Given the description of an element on the screen output the (x, y) to click on. 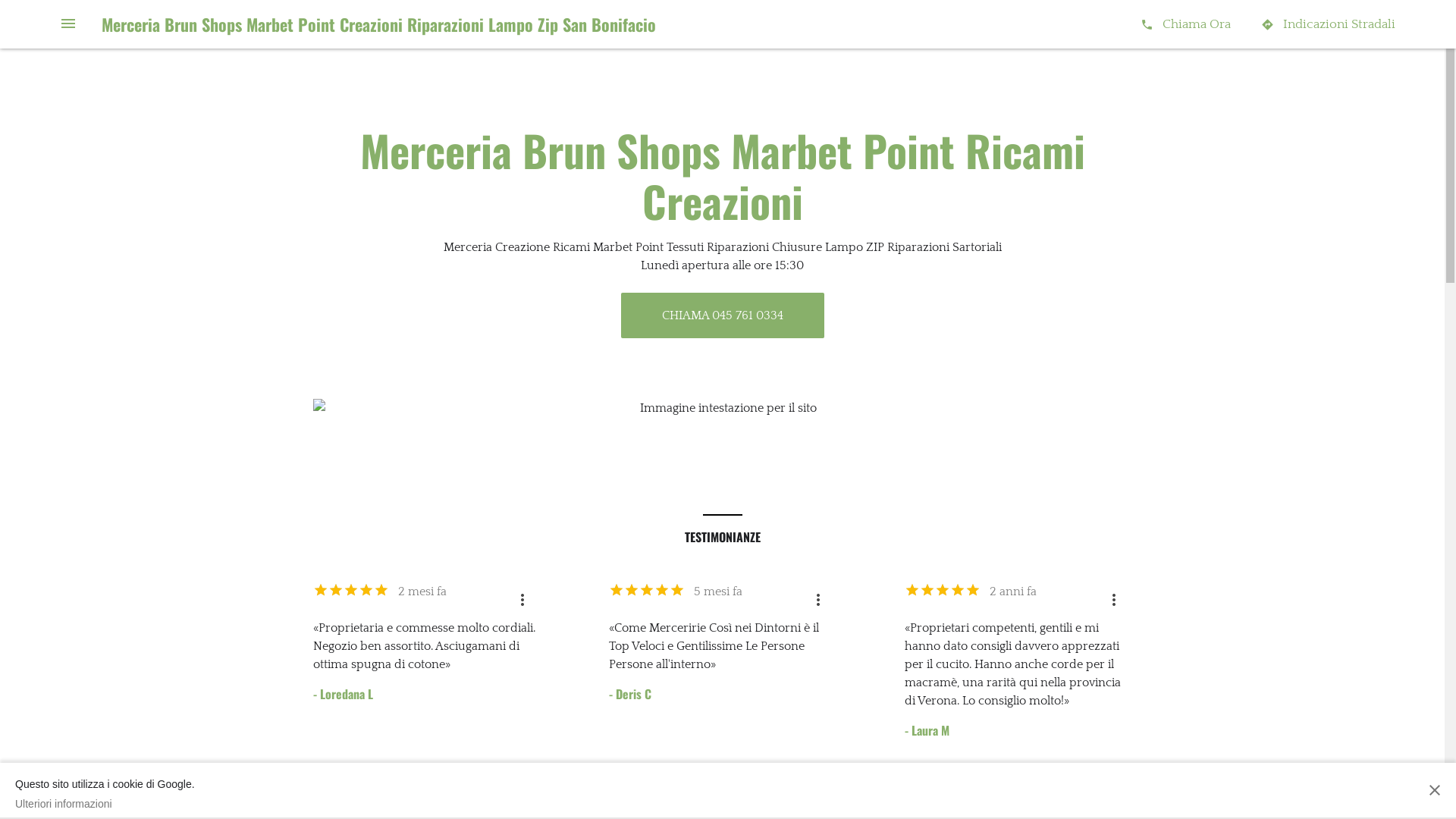
ULTERIORI INFORMAZIONI Element type: text (804, 798)
Ulteriori informazioni Element type: text (104, 803)
CHIAMA 045 761 0334 Element type: text (721, 315)
SCRIVI UNA RECENSIONE Element type: text (635, 798)
